Given the description of an element on the screen output the (x, y) to click on. 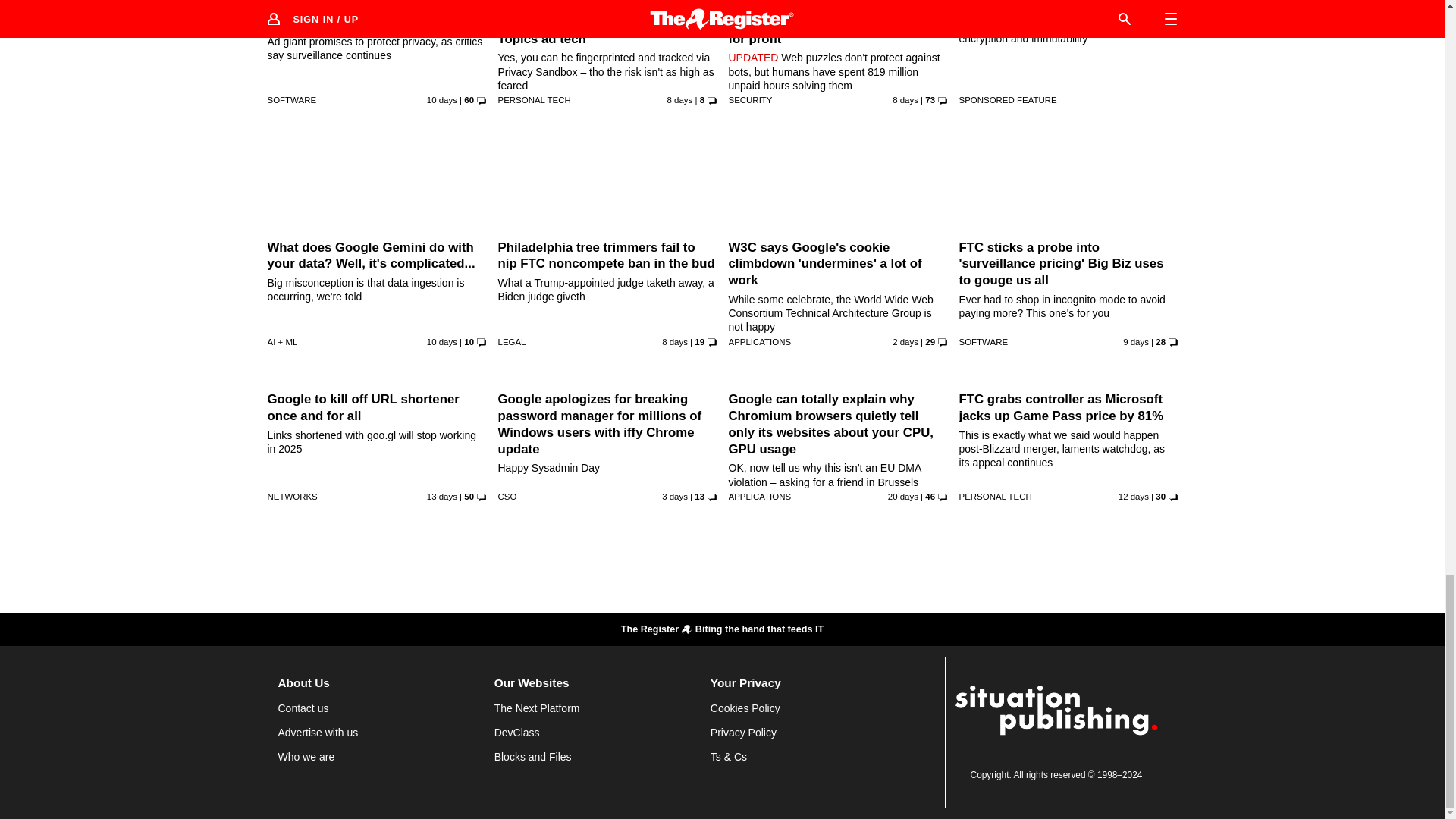
23 Jul 2024 0:3 (441, 99)
22 Jul 2024 19:15 (441, 341)
24 Jul 2024 20:44 (679, 99)
24 Jul 2024 18:1 (674, 341)
24 Jul 2024 6:33 (905, 99)
23 Jul 2024 18:26 (1135, 341)
30 Jul 2024 13:2 (905, 341)
